Given the description of an element on the screen output the (x, y) to click on. 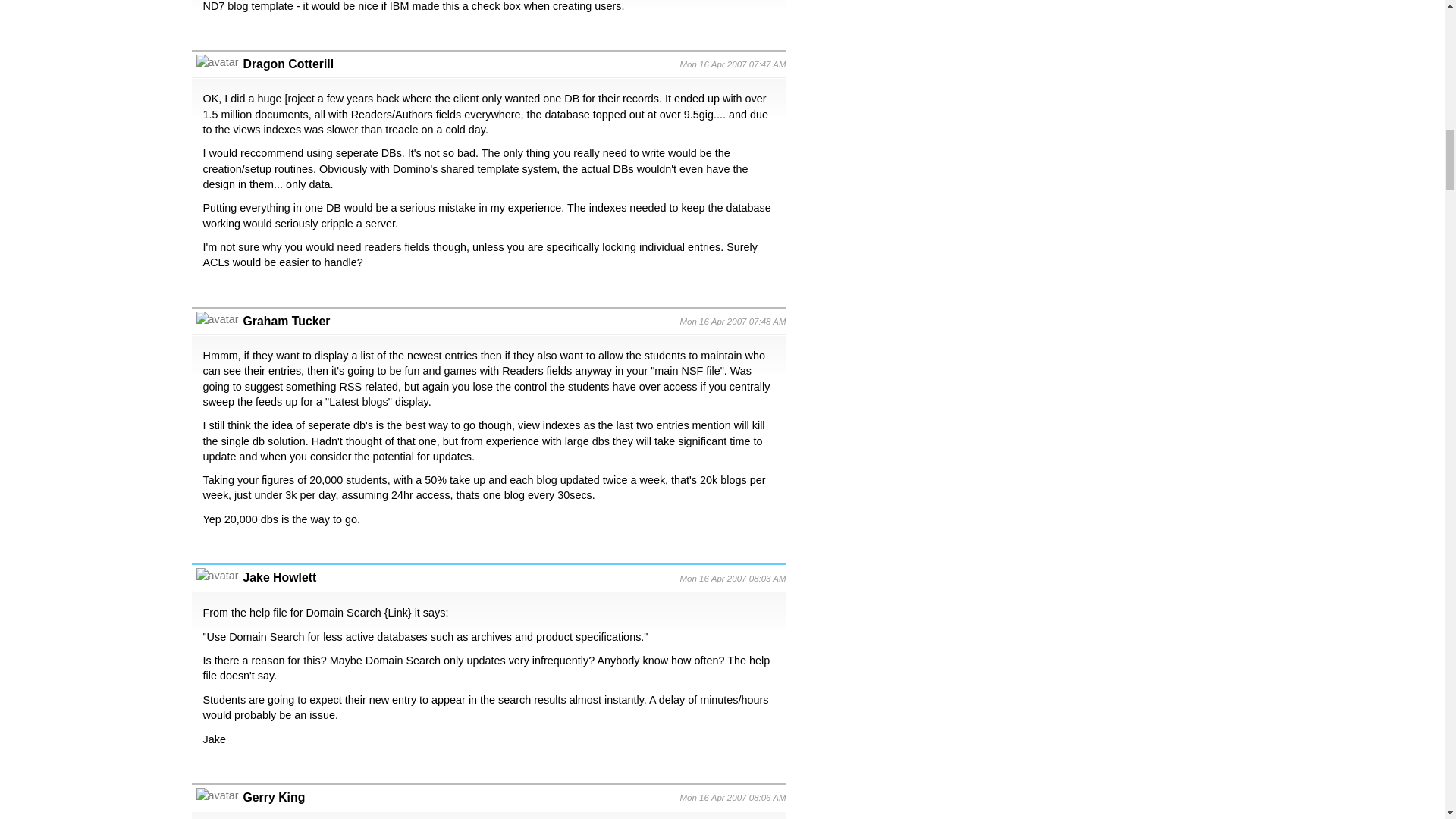
Graham Tucker (286, 320)
Click to Email (273, 797)
Dragon Cotterill (288, 63)
Link (397, 612)
Gerry King (273, 797)
